Given the description of an element on the screen output the (x, y) to click on. 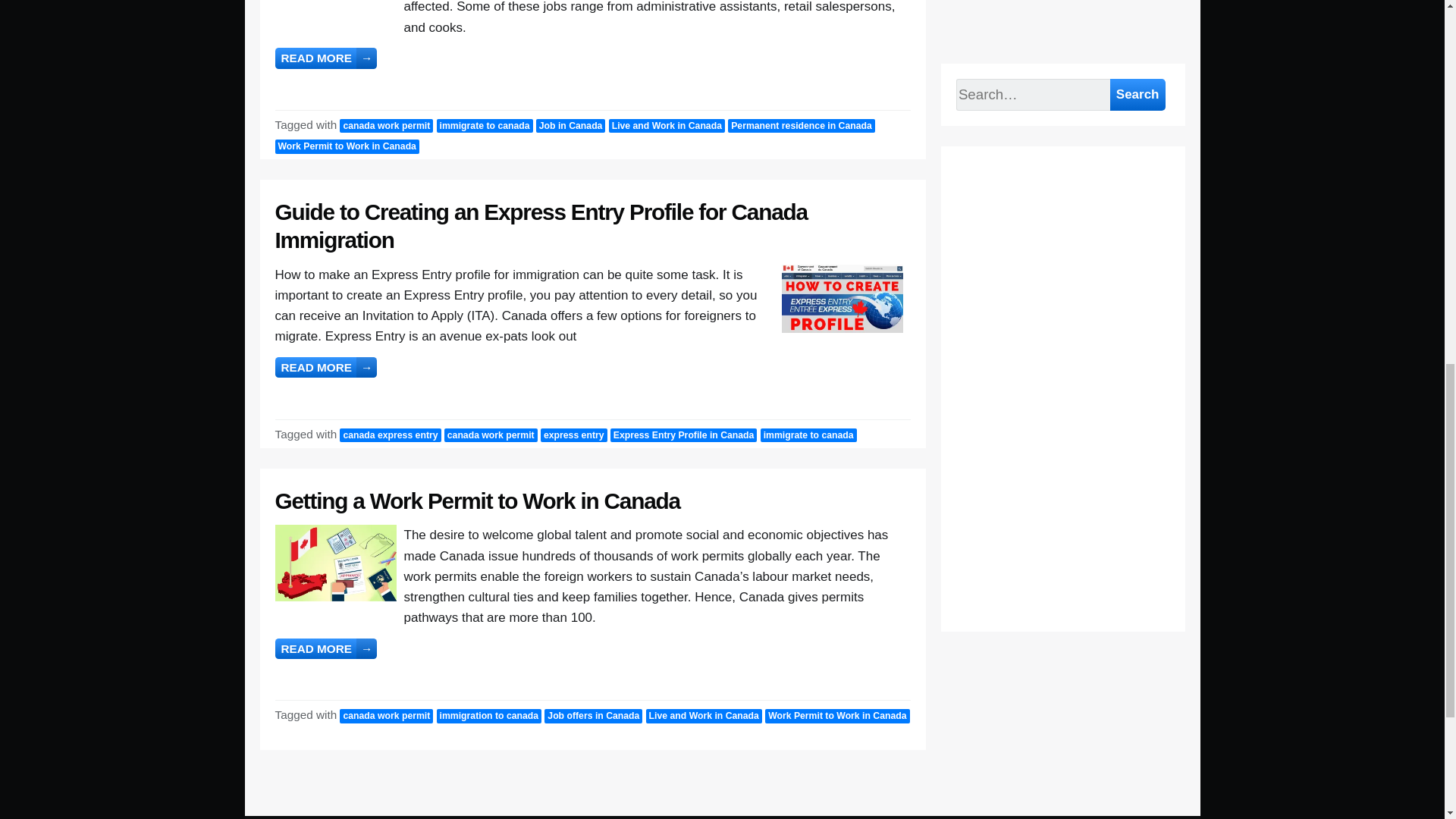
Express Entry Profile in Canada (683, 435)
Live and Work in Canada (666, 125)
express entry (573, 435)
canada express entry (390, 435)
immigrate to canada (808, 435)
immigrate to canada (484, 125)
Job in Canada (570, 125)
canada work permit (490, 435)
Getting a Work Permit to Work in Canada (477, 500)
canada work permit (385, 125)
Work Permit to Work in Canada (347, 146)
Permanent residence in Canada (801, 125)
